Given the description of an element on the screen output the (x, y) to click on. 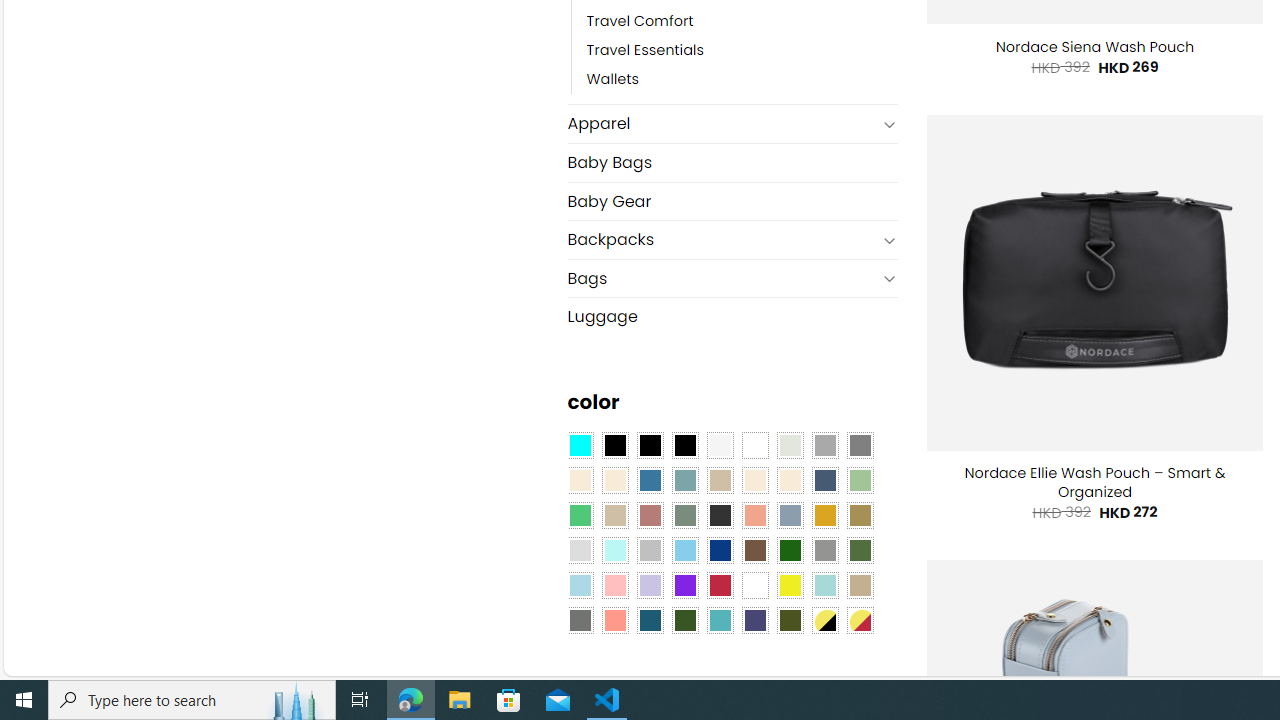
Emerald Green (579, 514)
Sage (684, 514)
Kelp (859, 514)
All Gray (859, 444)
Green (859, 550)
Clear (755, 444)
Travel Essentials (645, 51)
Brownie (719, 480)
Brown (755, 550)
Yellow-Black (824, 619)
Capri Blue (650, 619)
Baby Bags (732, 162)
Wallets (613, 79)
Light Taupe (614, 514)
